Given the description of an element on the screen output the (x, y) to click on. 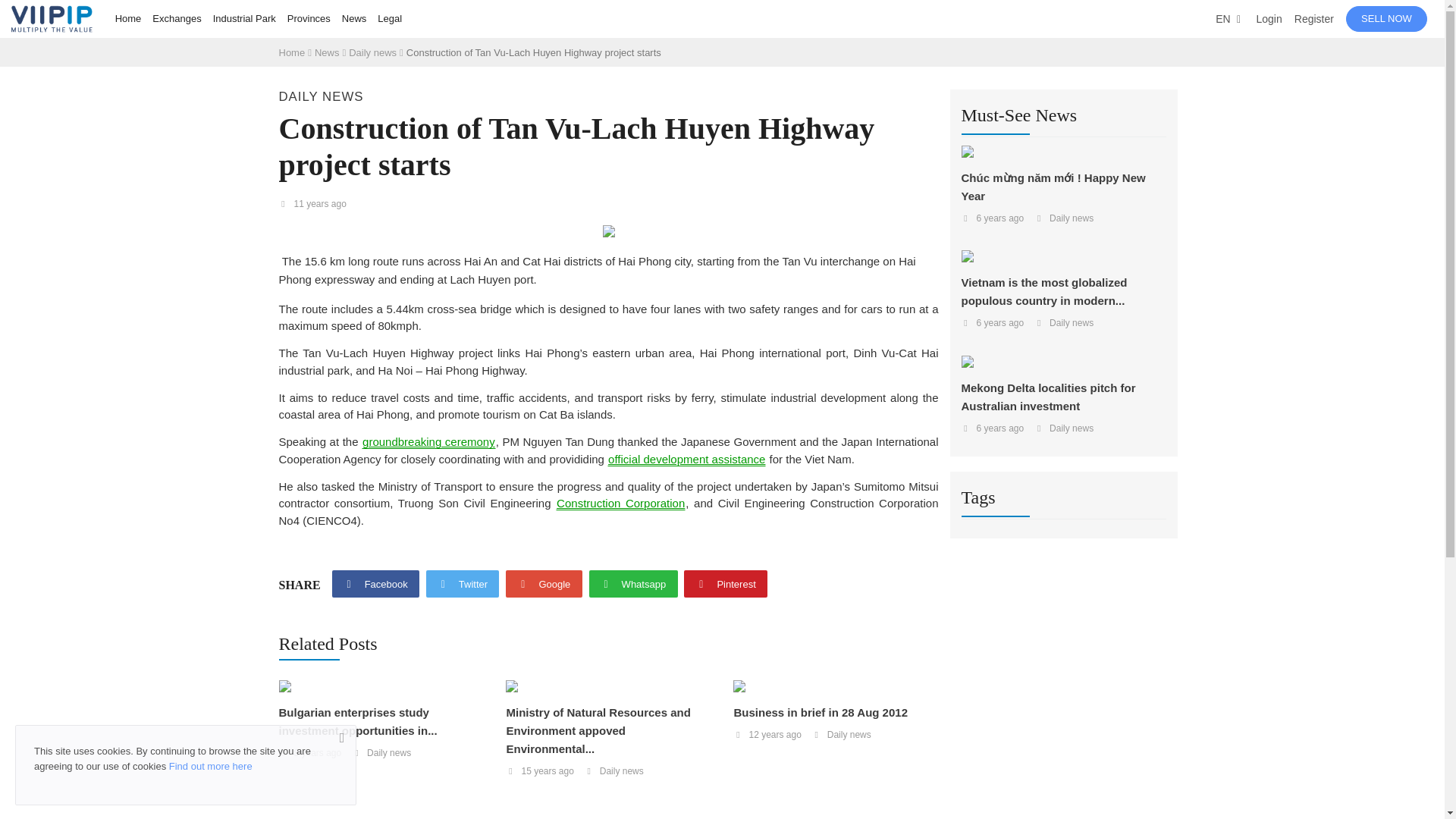
Industrial Park (244, 18)
SELL NOW (1385, 18)
EN (1229, 18)
Provinces (308, 18)
Exchanges (176, 18)
Daily news (321, 96)
Register (1313, 18)
Login (1268, 18)
